Given the description of an element on the screen output the (x, y) to click on. 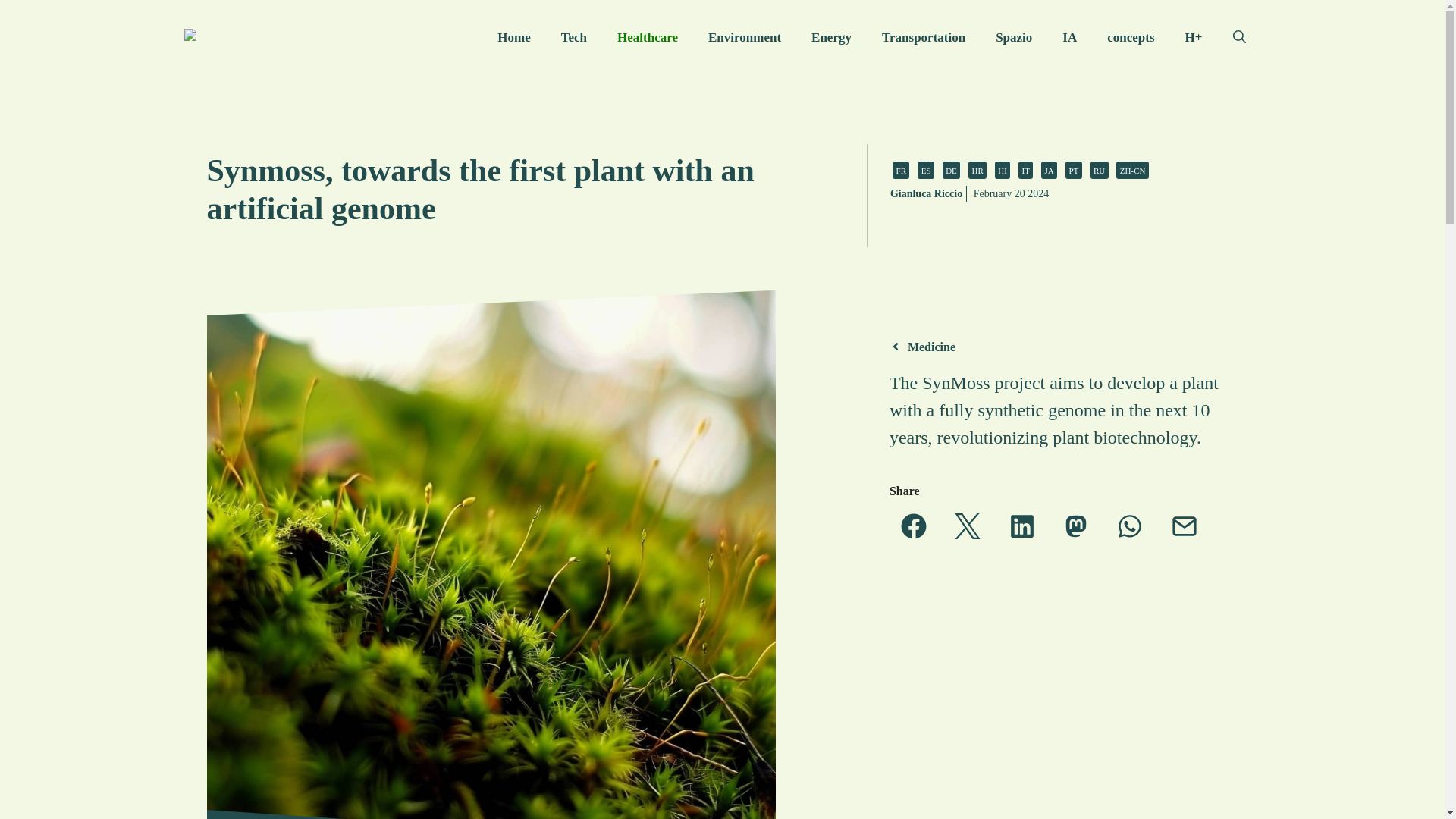
Tech (574, 37)
Spazio (1012, 37)
French (900, 170)
IA (1069, 37)
Home (512, 37)
Portuguese (1073, 170)
Russian (1099, 170)
Environment (744, 37)
Japanese (1049, 170)
Croatian (977, 170)
Transportation (922, 37)
concepts (1130, 37)
Spanish (925, 170)
German (950, 170)
Healthcare (647, 37)
